Given the description of an element on the screen output the (x, y) to click on. 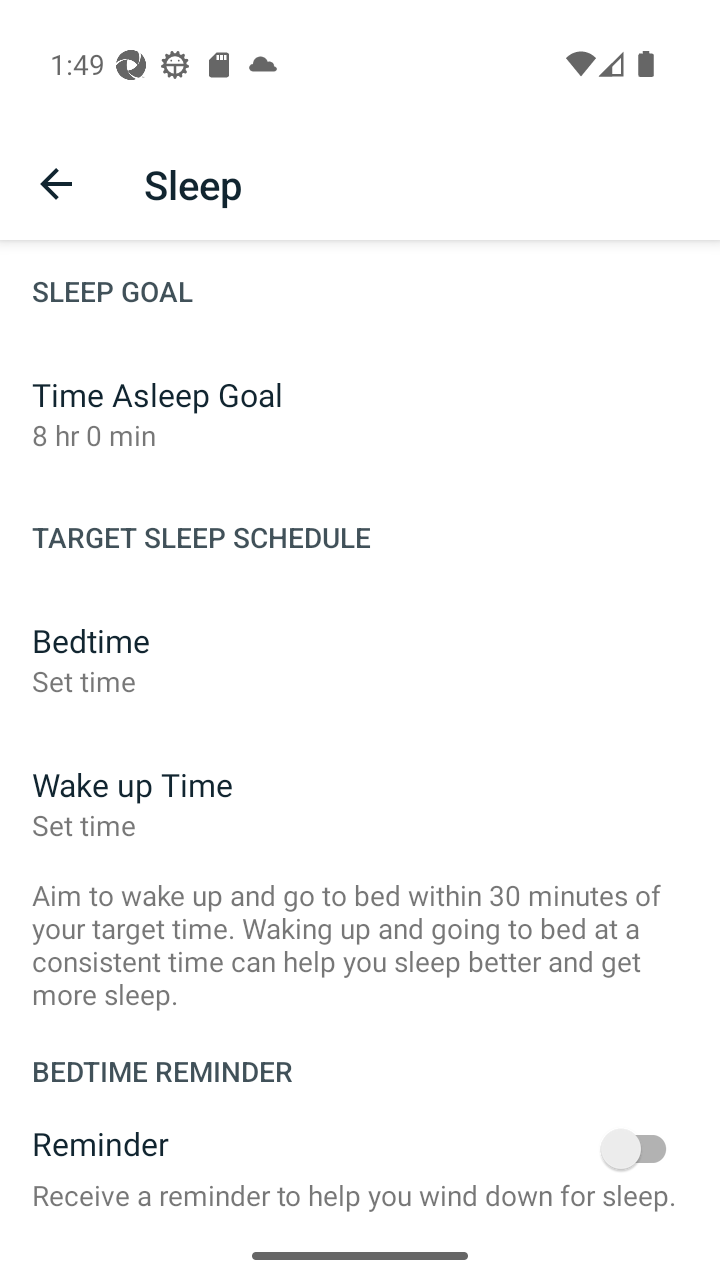
Navigate up (56, 184)
Time Asleep Goal 8 hr 0 min (360, 413)
Bedtime Set time (360, 659)
Wake up Time Set time (360, 803)
